Given the description of an element on the screen output the (x, y) to click on. 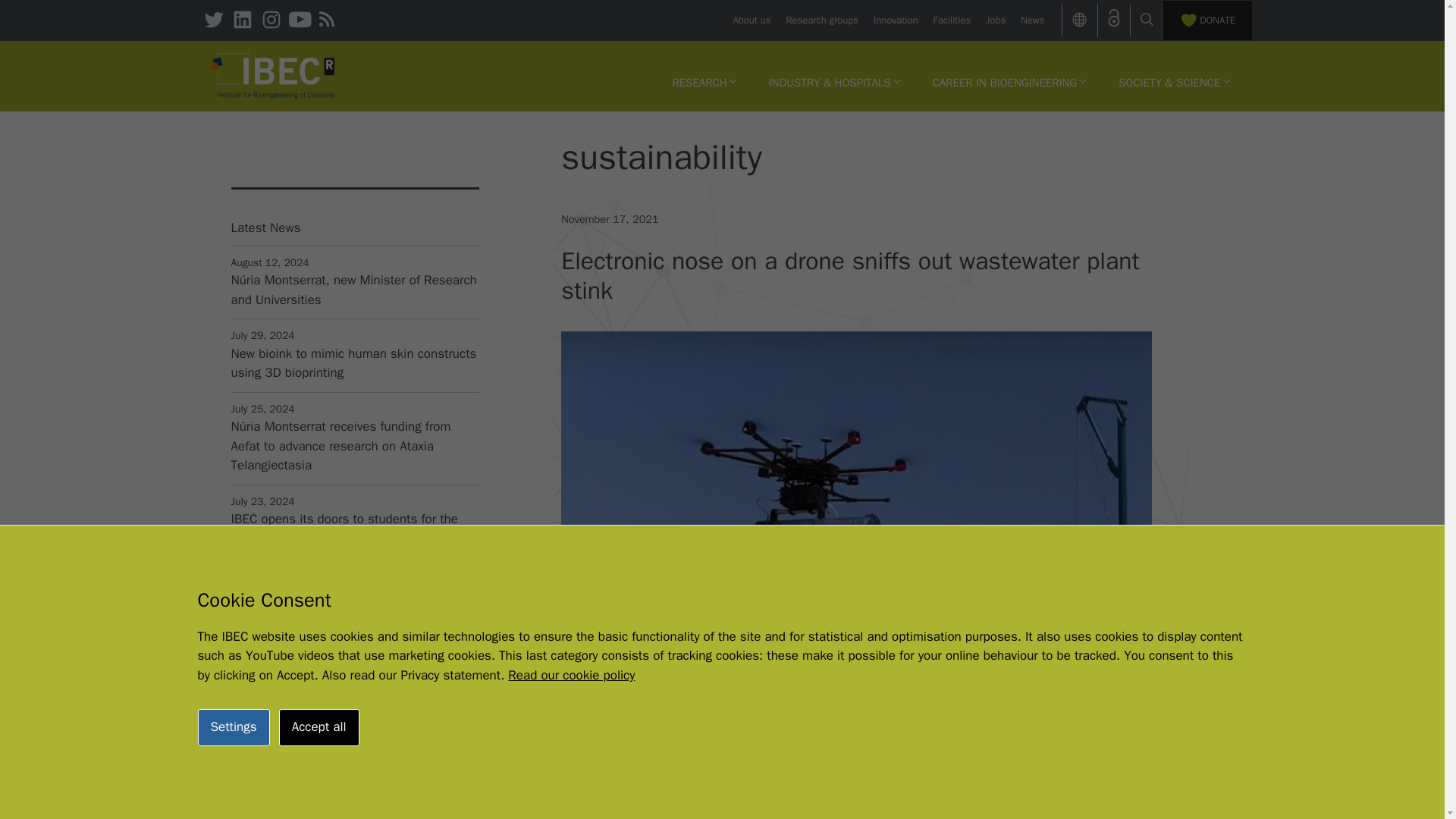
DONATE (1207, 20)
Research groups (822, 19)
Institute for Bioengineering of Catalonia (272, 75)
About us (751, 19)
Facilities (952, 19)
News (1031, 19)
Innovation (895, 19)
RESEARCH (704, 81)
Jobs (995, 19)
Sign me up (353, 811)
